Given the description of an element on the screen output the (x, y) to click on. 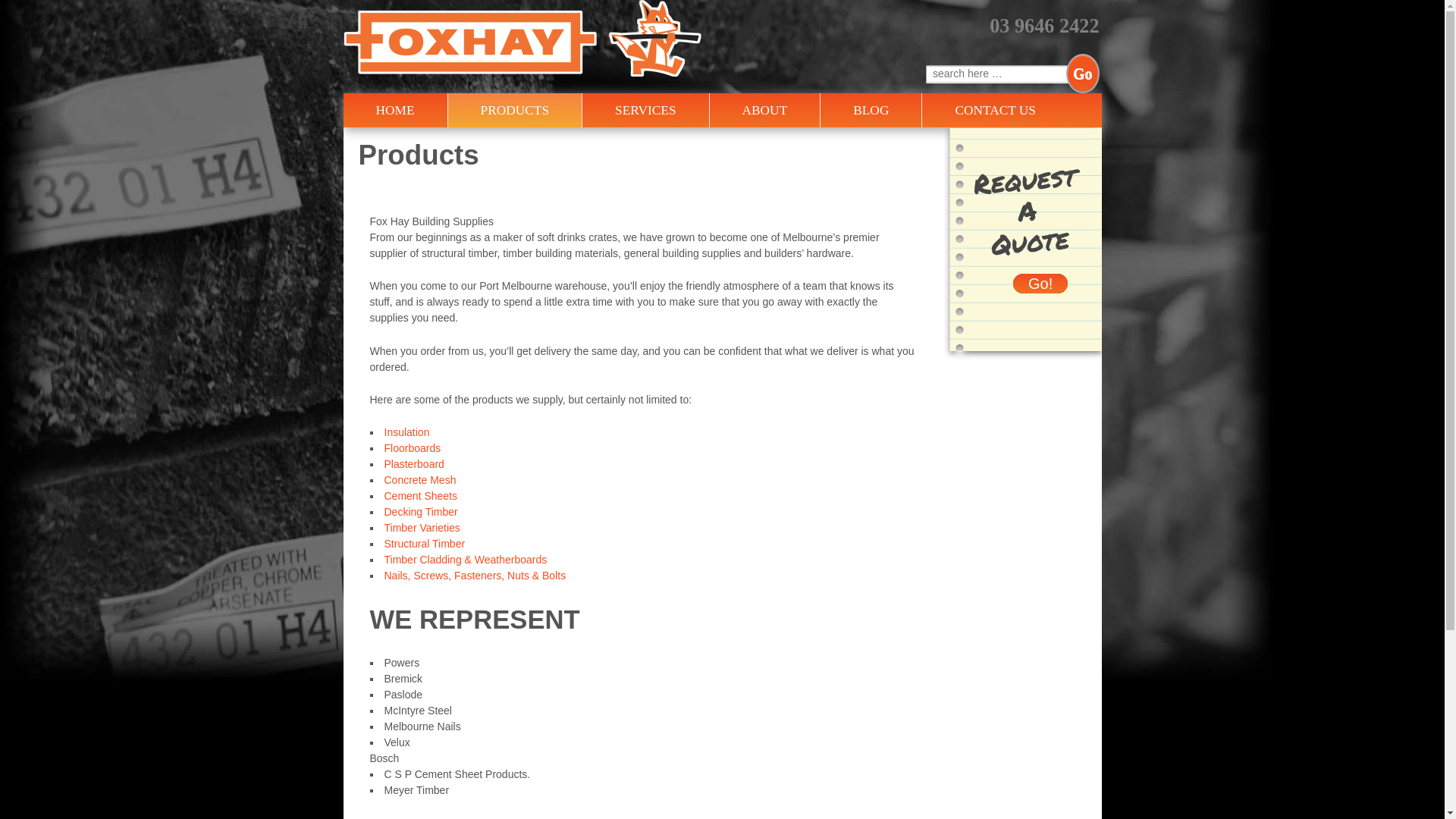
Concrete Mesh Element type: text (419, 479)
Structural Timber Element type: text (423, 543)
Go Element type: text (1082, 73)
Go! Element type: text (1040, 283)
Floorboards Element type: text (411, 448)
HOME Element type: text (394, 110)
PRODUCTS Element type: text (514, 110)
BLOG Element type: text (870, 110)
Timber Varieties Element type: text (421, 527)
Plasterboard Element type: text (413, 464)
Decking Timber Element type: text (420, 511)
Insulation Element type: text (406, 432)
Cement Sheets Element type: text (420, 495)
ABOUT Element type: text (764, 110)
SERVICES Element type: text (644, 110)
Nails, Screws, Fasteners, Nuts & Bolts Element type: text (474, 575)
Timber Cladding & Weatherboards Element type: text (464, 559)
CONTACT US Element type: text (994, 110)
